Given the description of an element on the screen output the (x, y) to click on. 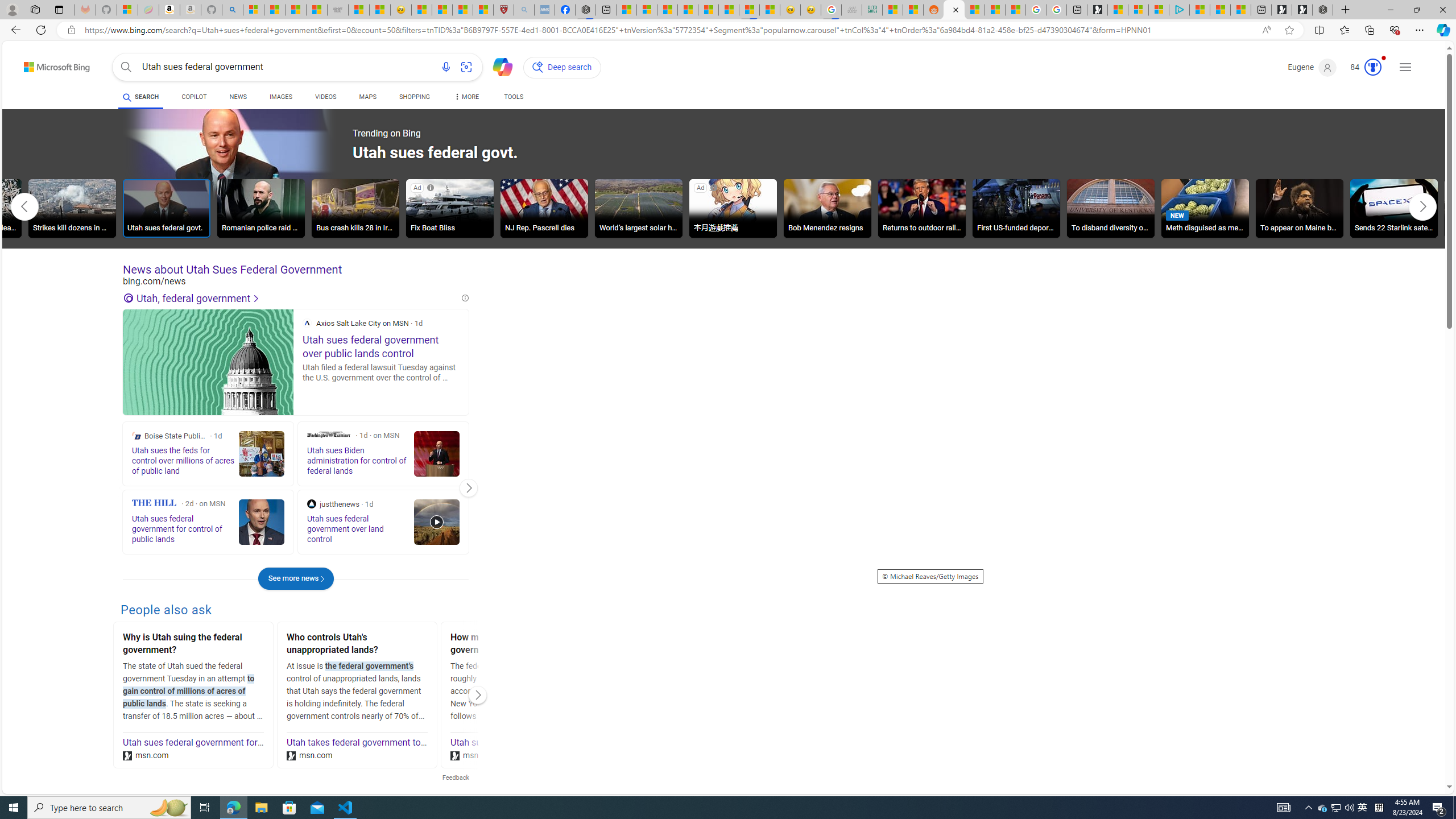
Search more (1423, 753)
Trending on Bing Utah sues federal govt. (338, 153)
Dropdown Menu (465, 96)
Search using an image (465, 66)
Sends 22 Starlink satellites (1393, 209)
Meth disguised as melons NEW (1205, 207)
